Given the description of an element on the screen output the (x, y) to click on. 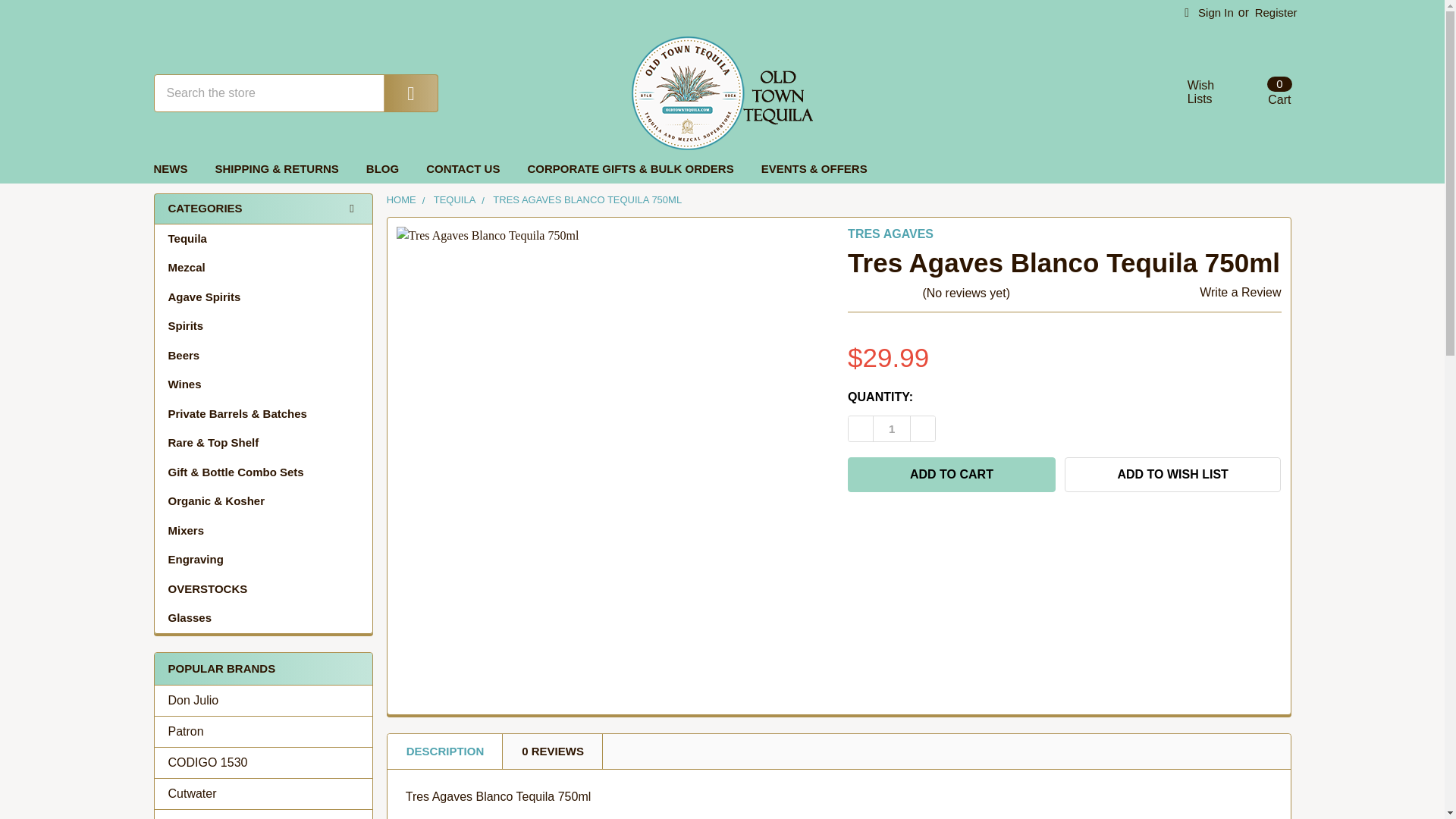
Add to Cart (951, 474)
Search (400, 93)
Don Julio (263, 700)
CODIGO 1530 (263, 762)
Register (1192, 92)
Patron (1276, 13)
Cart (263, 731)
Sign In (1260, 92)
Sauza (1208, 13)
